Given the description of an element on the screen output the (x, y) to click on. 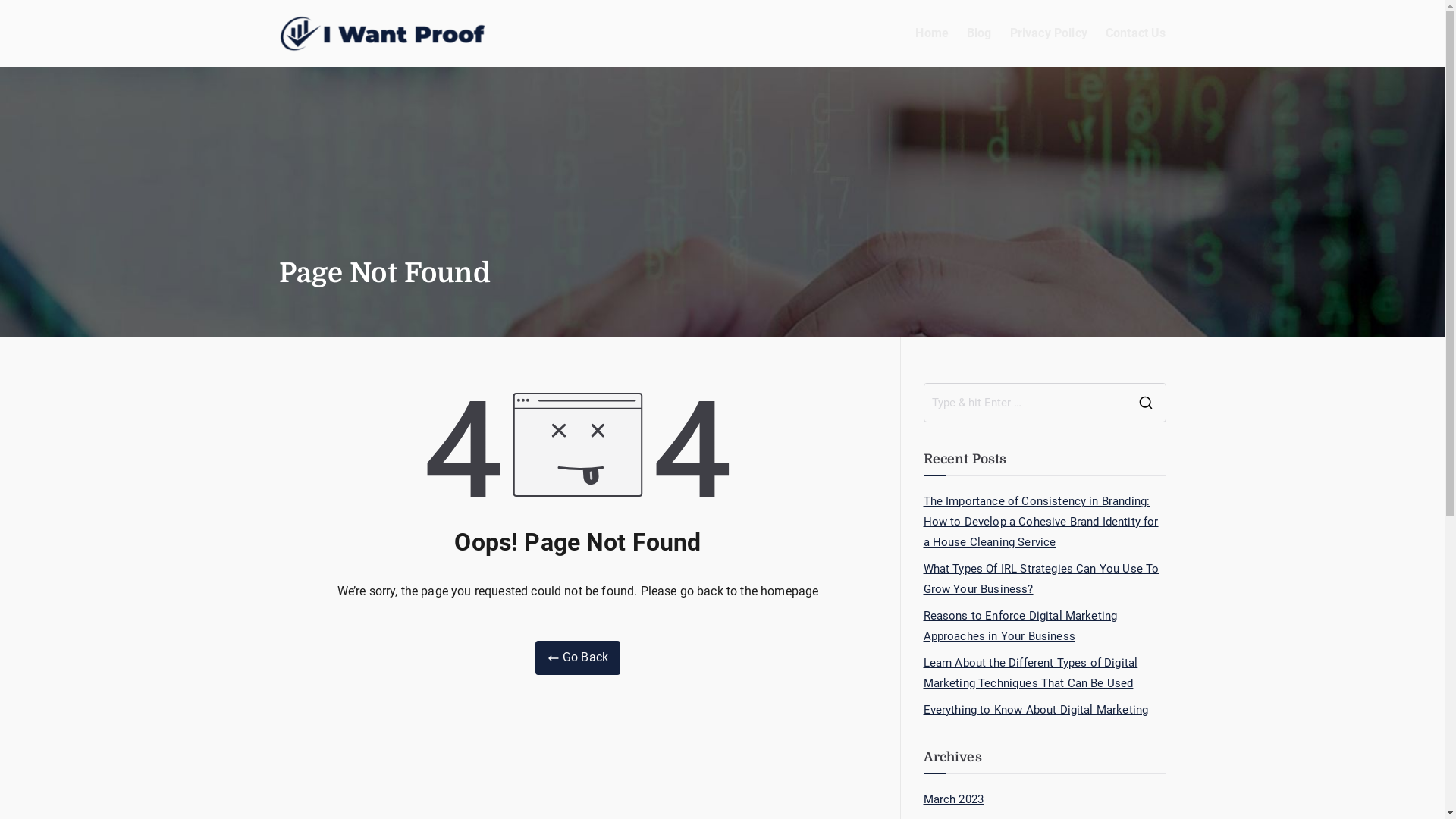
Search for: Element type: hover (1024, 402)
Home Element type: text (931, 33)
Privacy Policy Element type: text (1048, 33)
Everything to Know About Digital Marketing Element type: text (1035, 709)
March 2023 Element type: text (953, 799)
Search Element type: text (25, 18)
Go Back Element type: text (577, 657)
Contact Us Element type: text (1135, 33)
I Want Proof Element type: text (559, 46)
Blog Element type: text (978, 33)
